Given the description of an element on the screen output the (x, y) to click on. 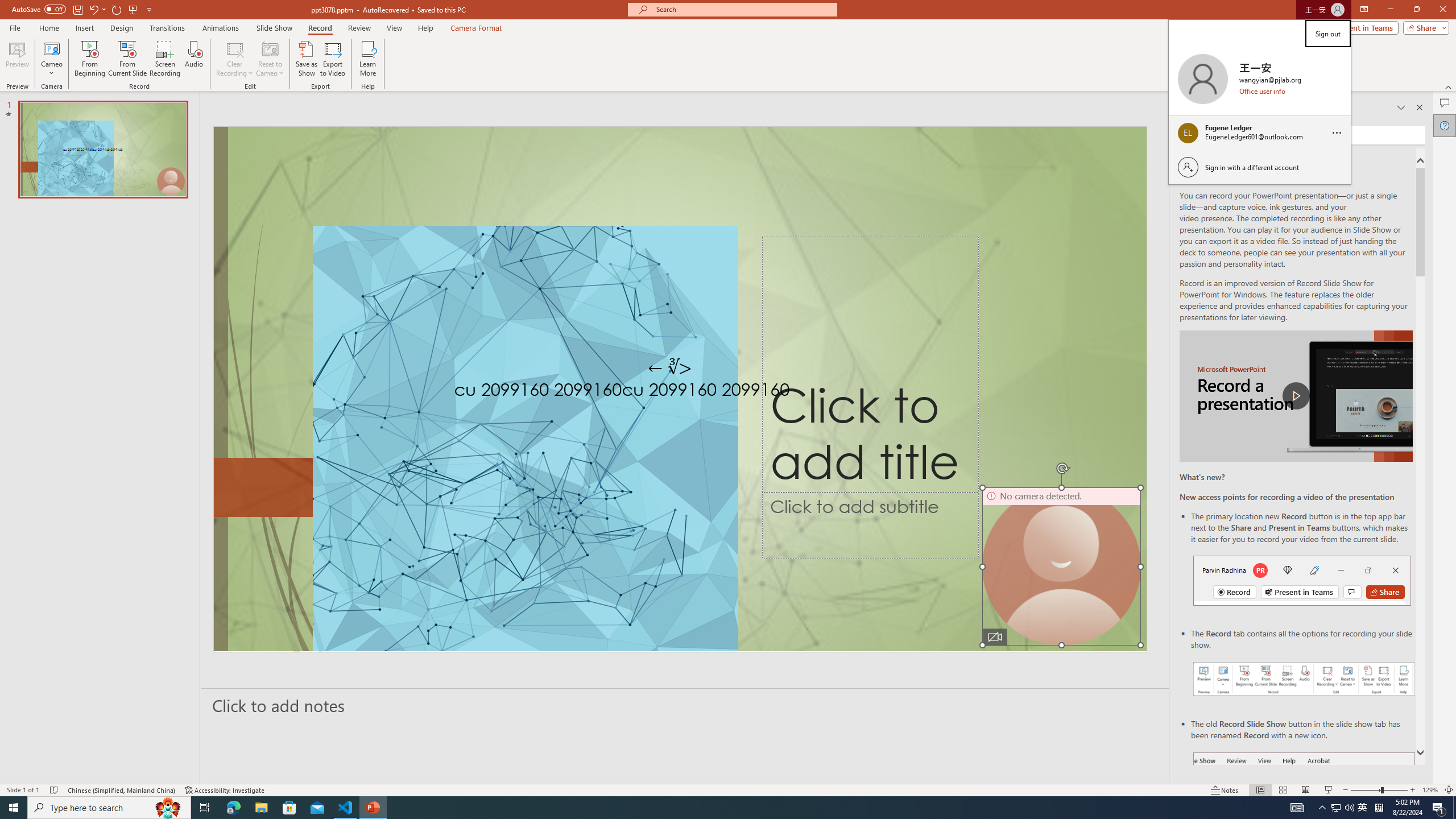
An abstract genetic concept (680, 388)
From Beginning... (89, 58)
TextBox 7 (670, 367)
Screen Recording (165, 58)
